Given the description of an element on the screen output the (x, y) to click on. 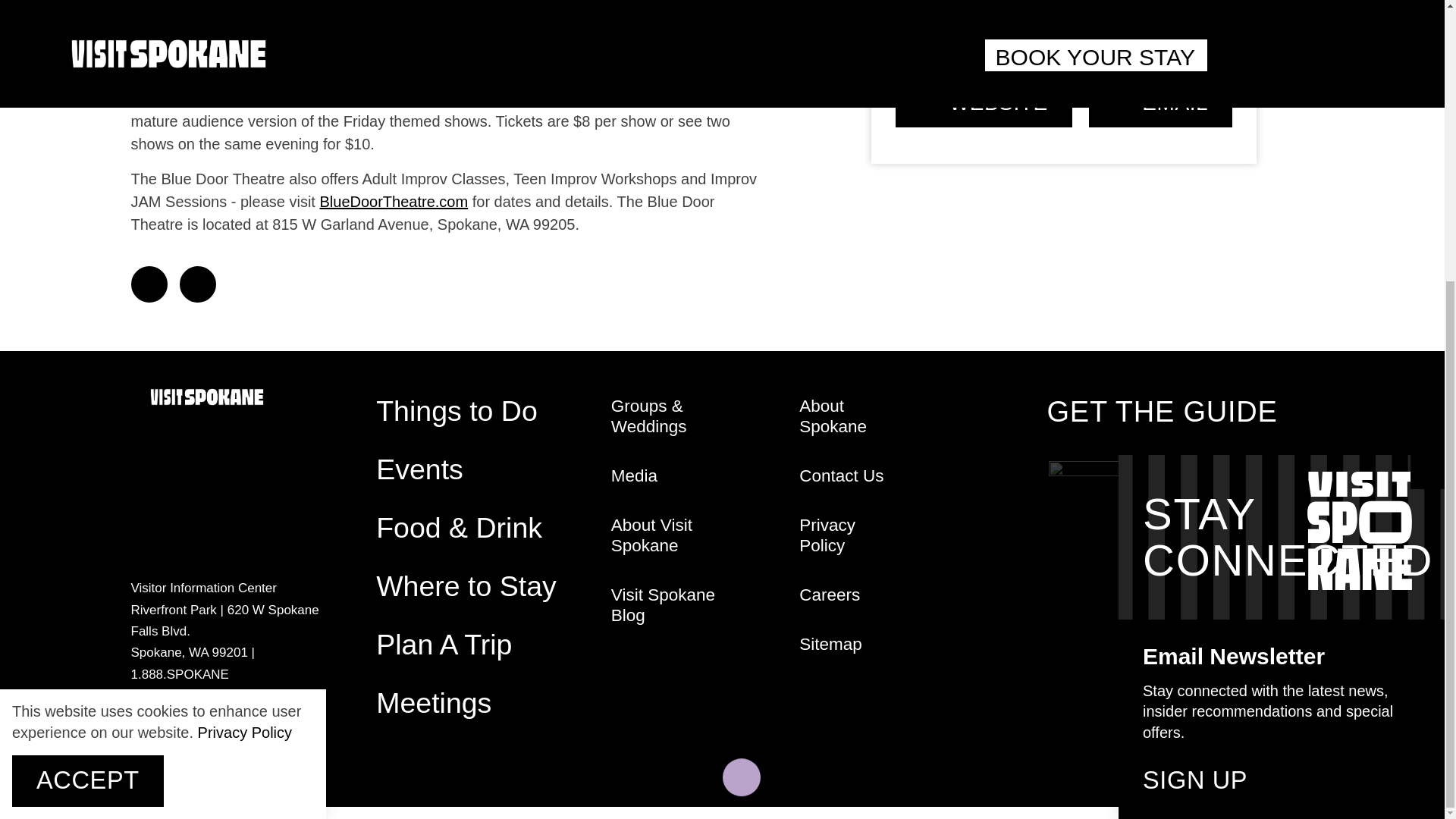
WEBSITE (983, 103)
BlueDoorTheatre.com (392, 201)
save (1017, 25)
Events (419, 469)
map (1114, 25)
Things to Do (456, 410)
EMAIL (1160, 103)
